Given the description of an element on the screen output the (x, y) to click on. 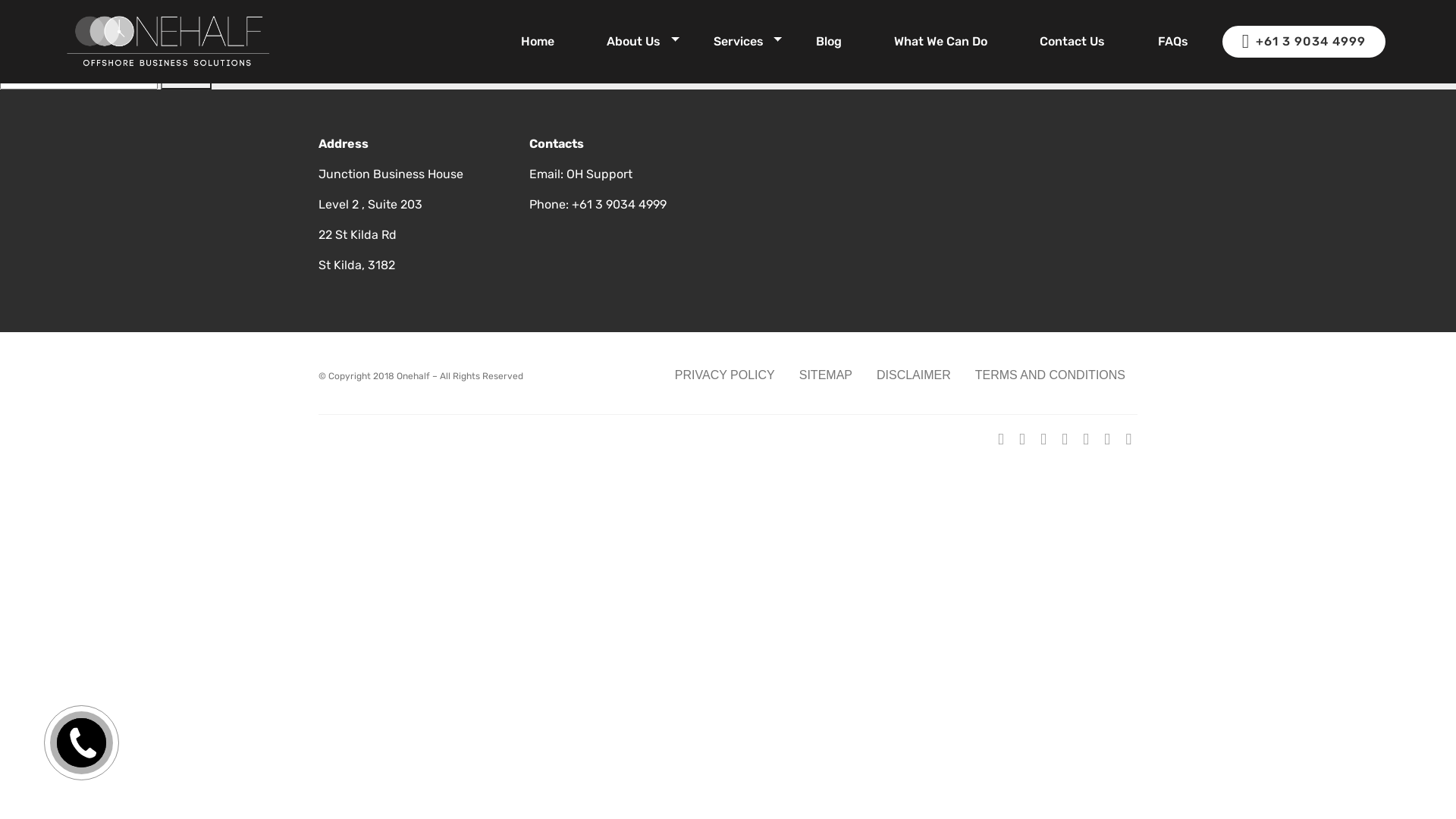
PRIVACY POLICY Element type: text (724, 375)
Search Element type: text (185, 77)
FAQs Element type: text (1172, 41)
What We Can Do Element type: text (940, 41)
TERMS AND CONDITIONS Element type: text (1050, 375)
+61 3 9034 4999 Element type: text (1303, 41)
SITEMAP Element type: text (825, 375)
Contact Us Element type: text (1071, 41)
DISCLAIMER Element type: text (913, 375)
OH Support Element type: text (598, 173)
Services Element type: text (738, 41)
Home Element type: text (537, 41)
Blog Element type: text (828, 41)
About Us Element type: text (633, 41)
